Given the description of an element on the screen output the (x, y) to click on. 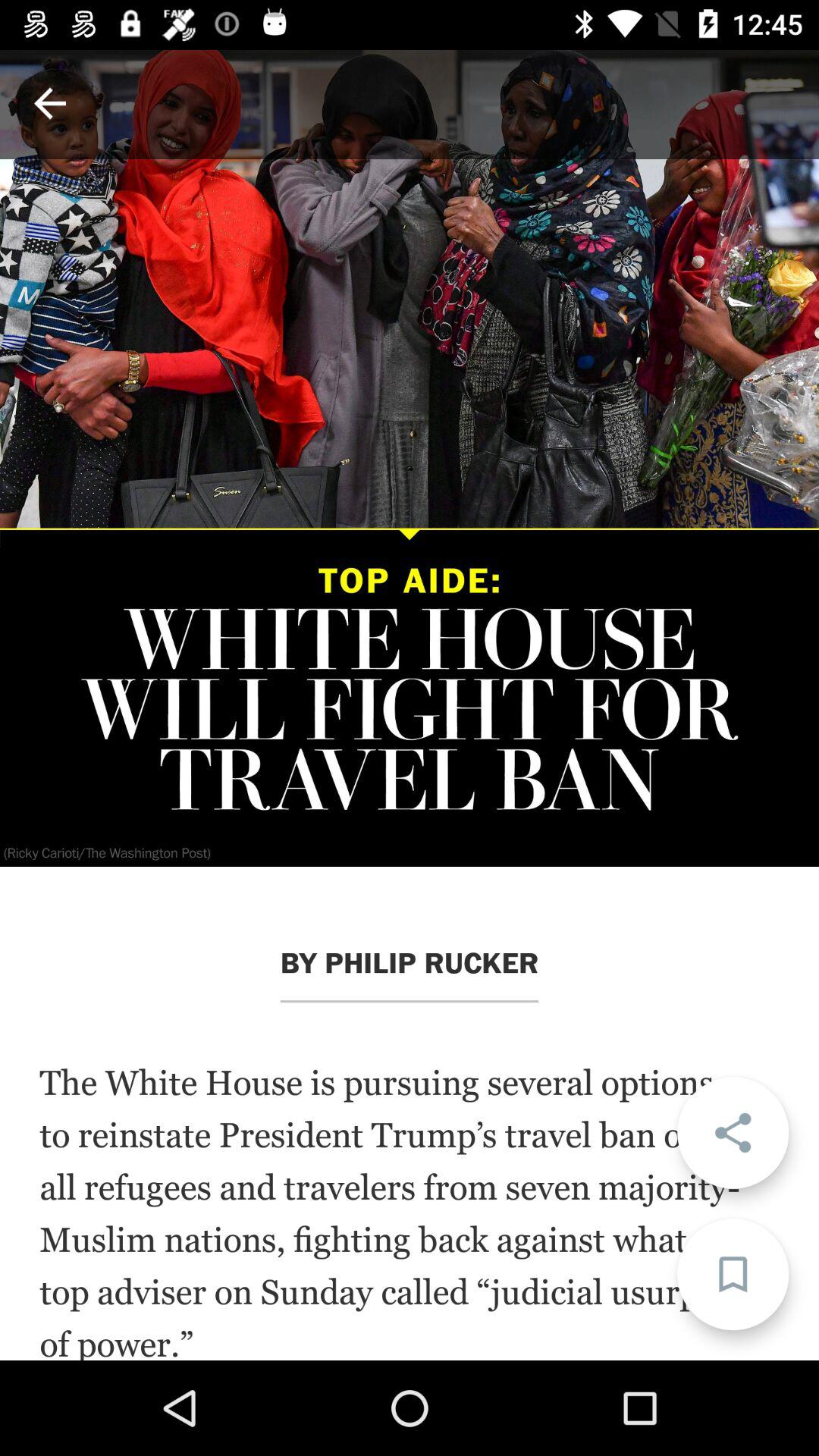
jump until the the white house item (409, 1211)
